Given the description of an element on the screen output the (x, y) to click on. 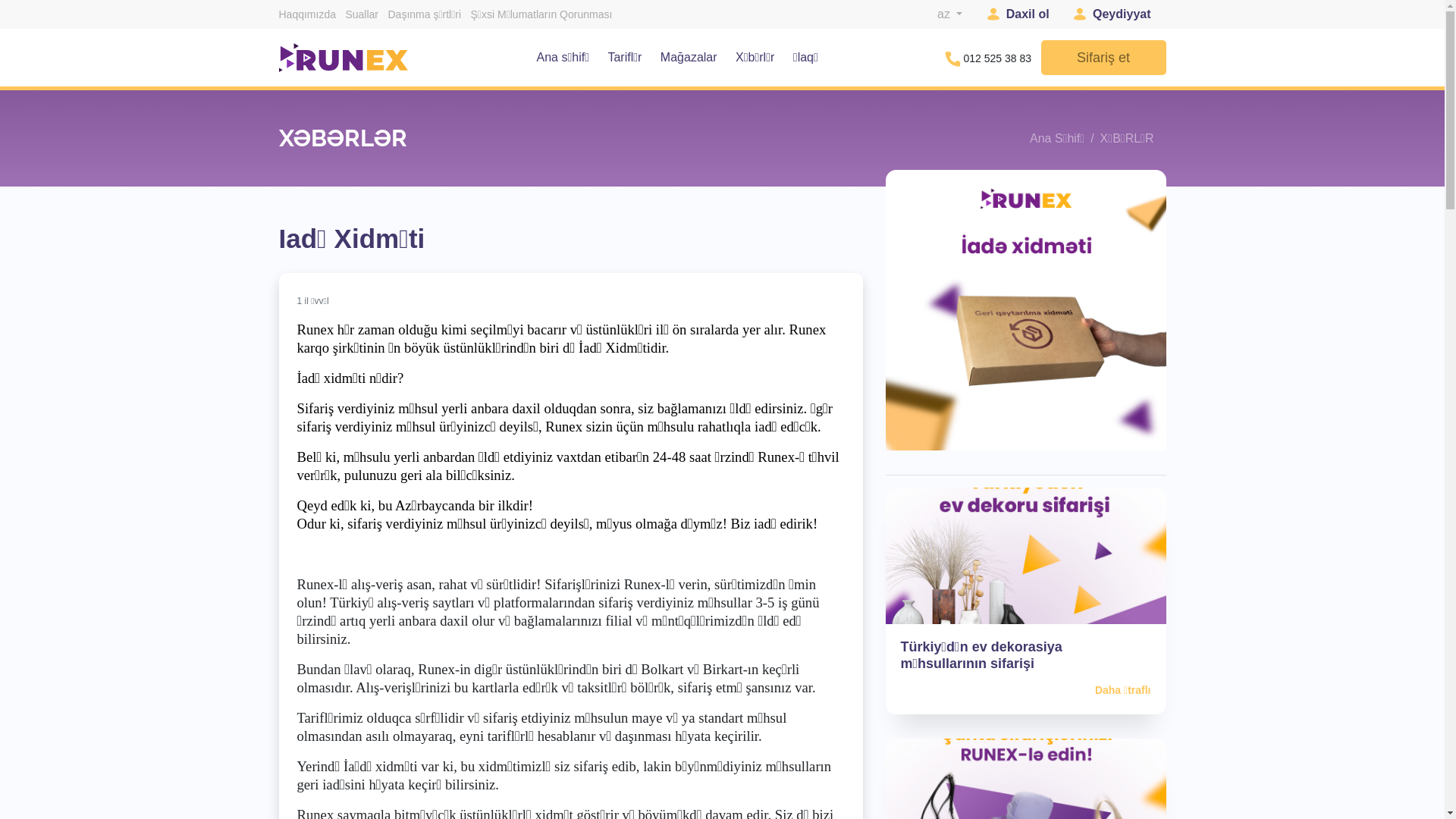
Daxil ol Element type: text (1018, 14)
Qeydiyyat Element type: text (1111, 14)
Suallar Element type: text (361, 14)
az Element type: text (949, 13)
